Given the description of an element on the screen output the (x, y) to click on. 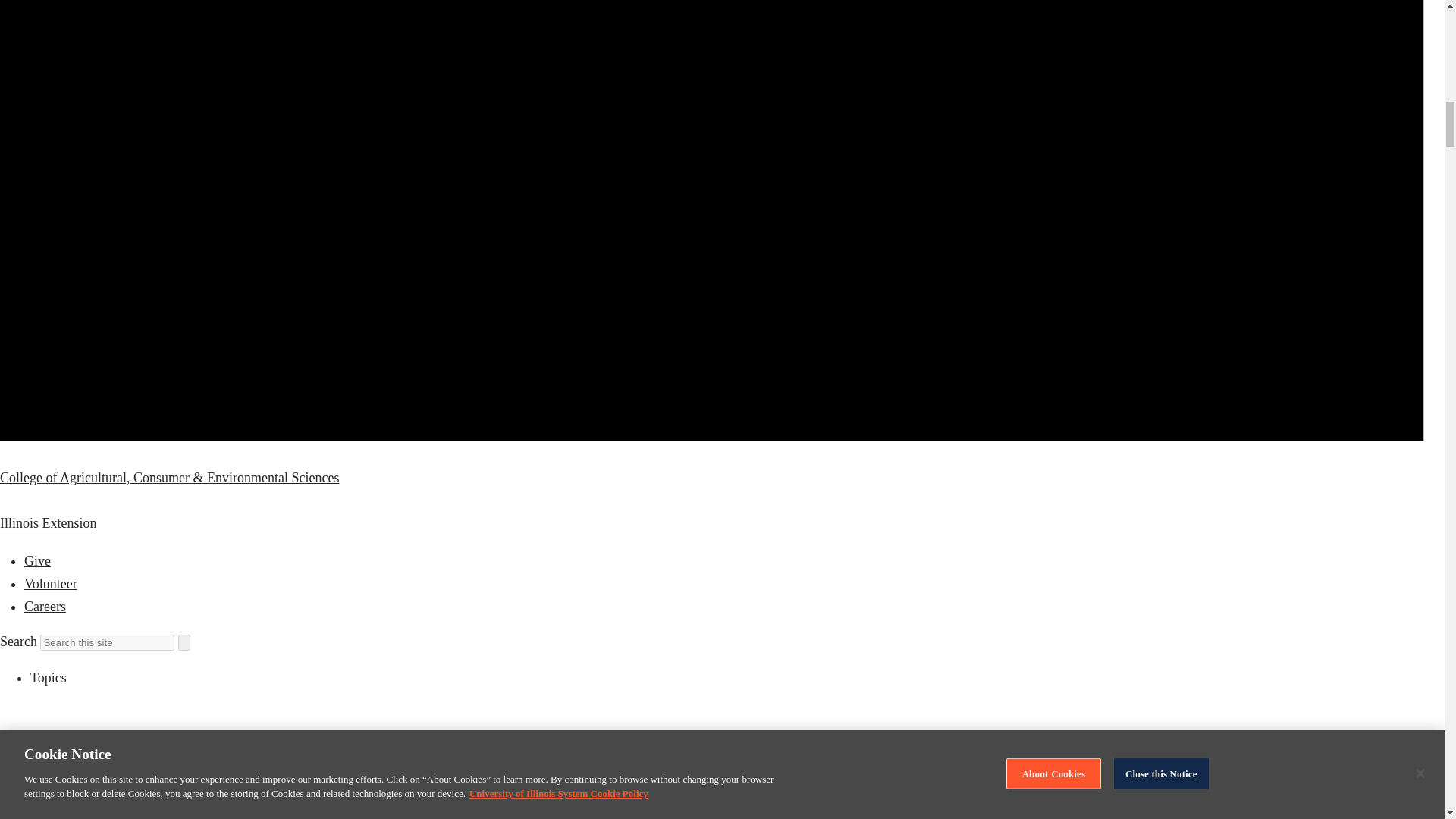
Topics (48, 677)
Volunteer (50, 583)
Careers (44, 606)
Give (37, 560)
Illinois Extension (48, 522)
